Given the description of an element on the screen output the (x, y) to click on. 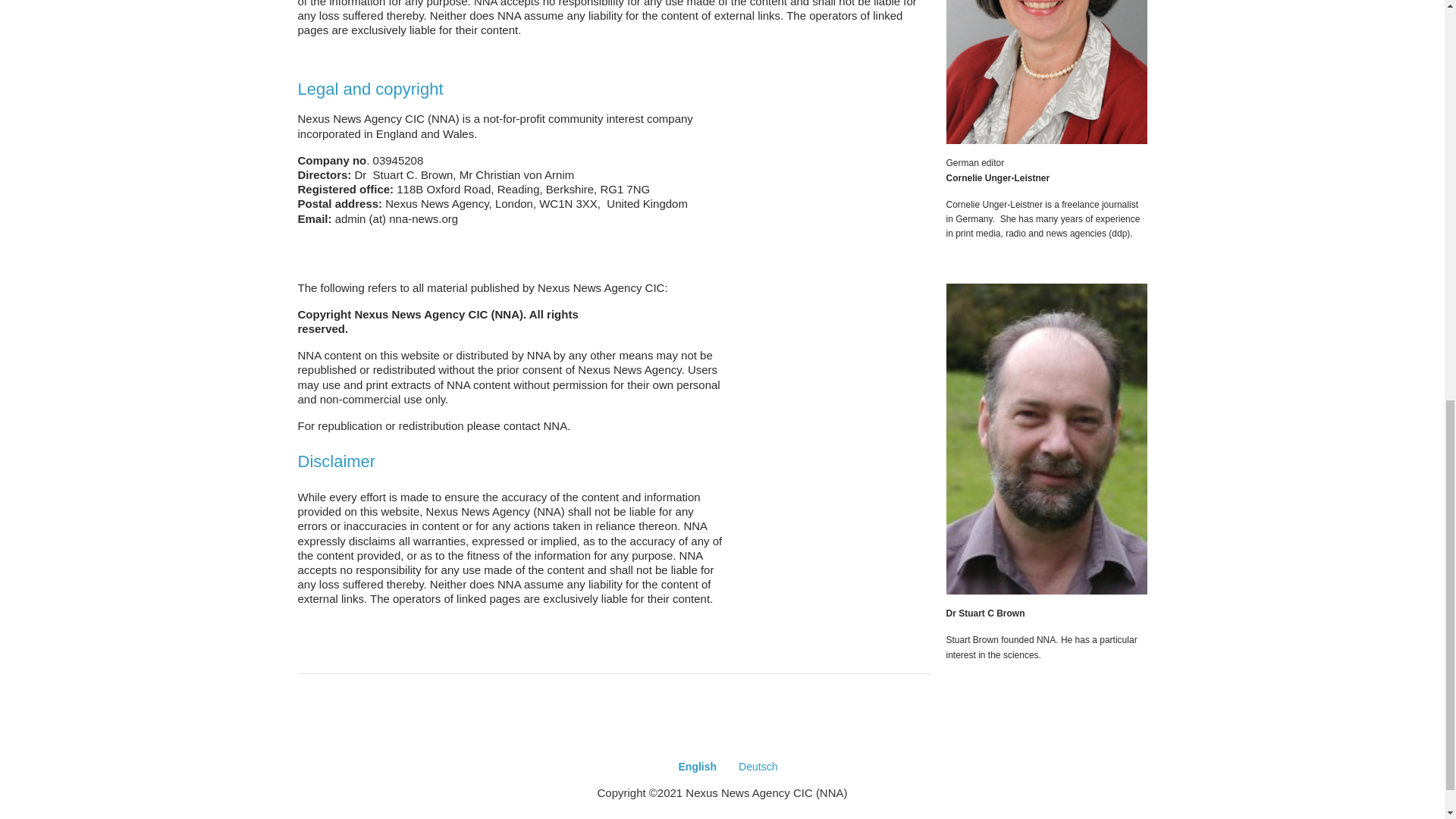
Deutsch (757, 766)
English (697, 766)
English (697, 766)
Deutsch (757, 766)
